Given the description of an element on the screen output the (x, y) to click on. 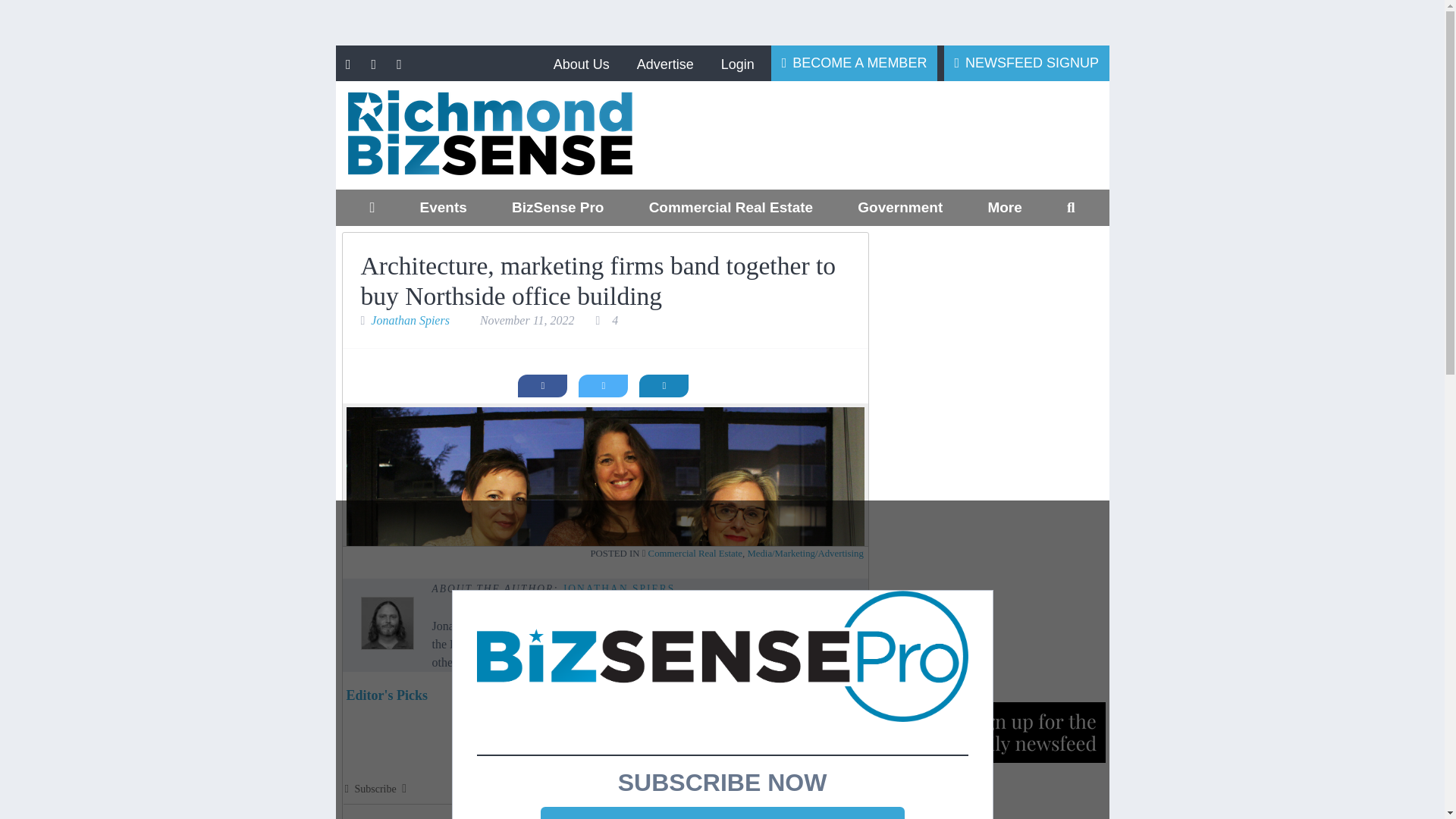
Login (737, 63)
Advertise (664, 63)
Posts by Jonathan Spiers (618, 588)
BizSense Pro (557, 207)
BECOME A MEMBER (854, 62)
NEWSFEED SIGNUP (1026, 62)
More (1004, 207)
Government (900, 207)
About Us (581, 63)
